Given the description of an element on the screen output the (x, y) to click on. 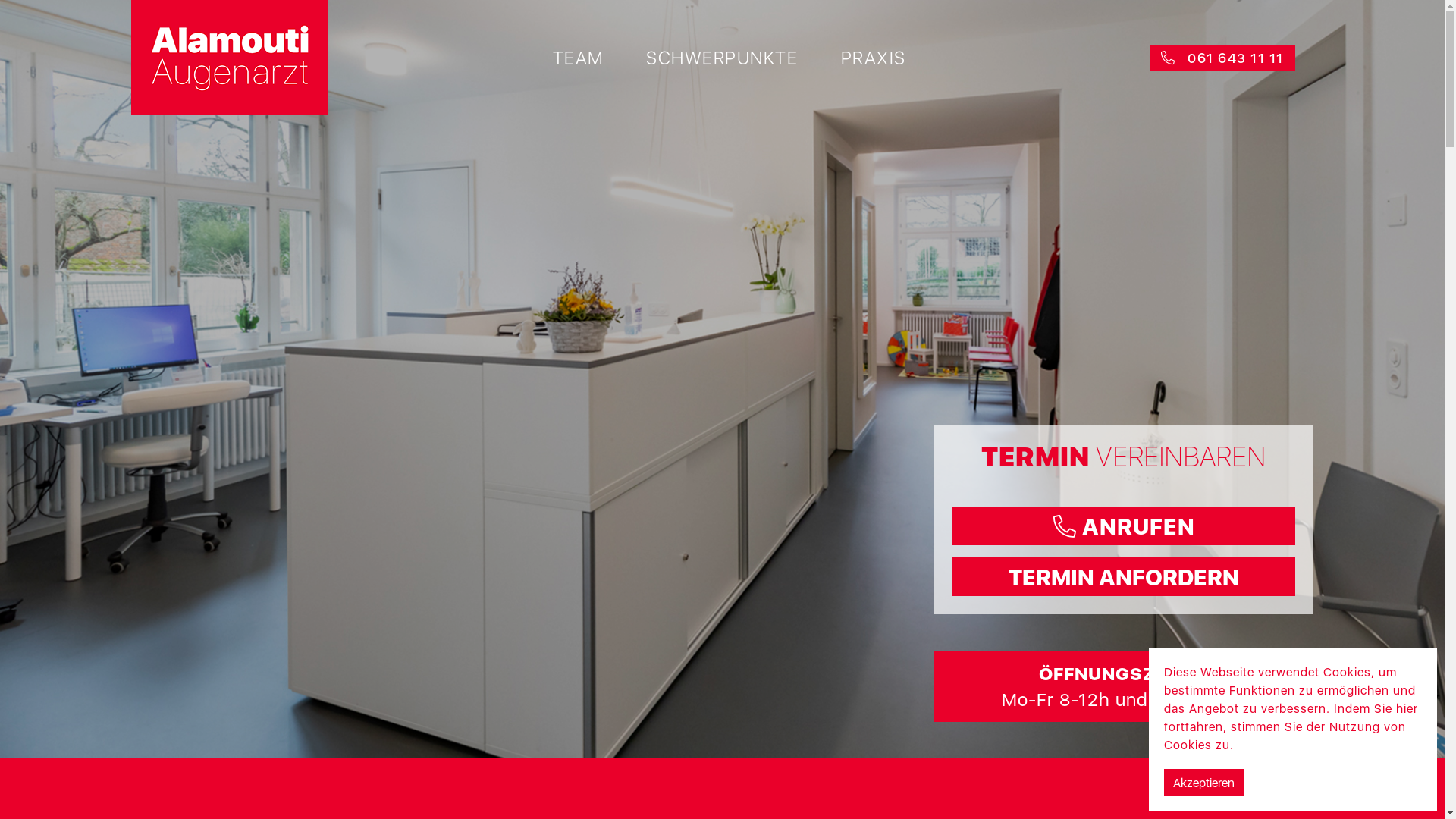
PRAXIS Element type: text (872, 57)
061 643 11 11 Element type: text (1222, 56)
Mehr Informationen Element type: text (1295, 744)
SCHWERPUNKTE Element type: text (721, 57)
Akzeptieren Element type: text (1203, 782)
ANRUFEN Element type: text (1123, 525)
TEAM Element type: text (577, 57)
TERMIN ANFORDERN Element type: text (1123, 576)
